Given the description of an element on the screen output the (x, y) to click on. 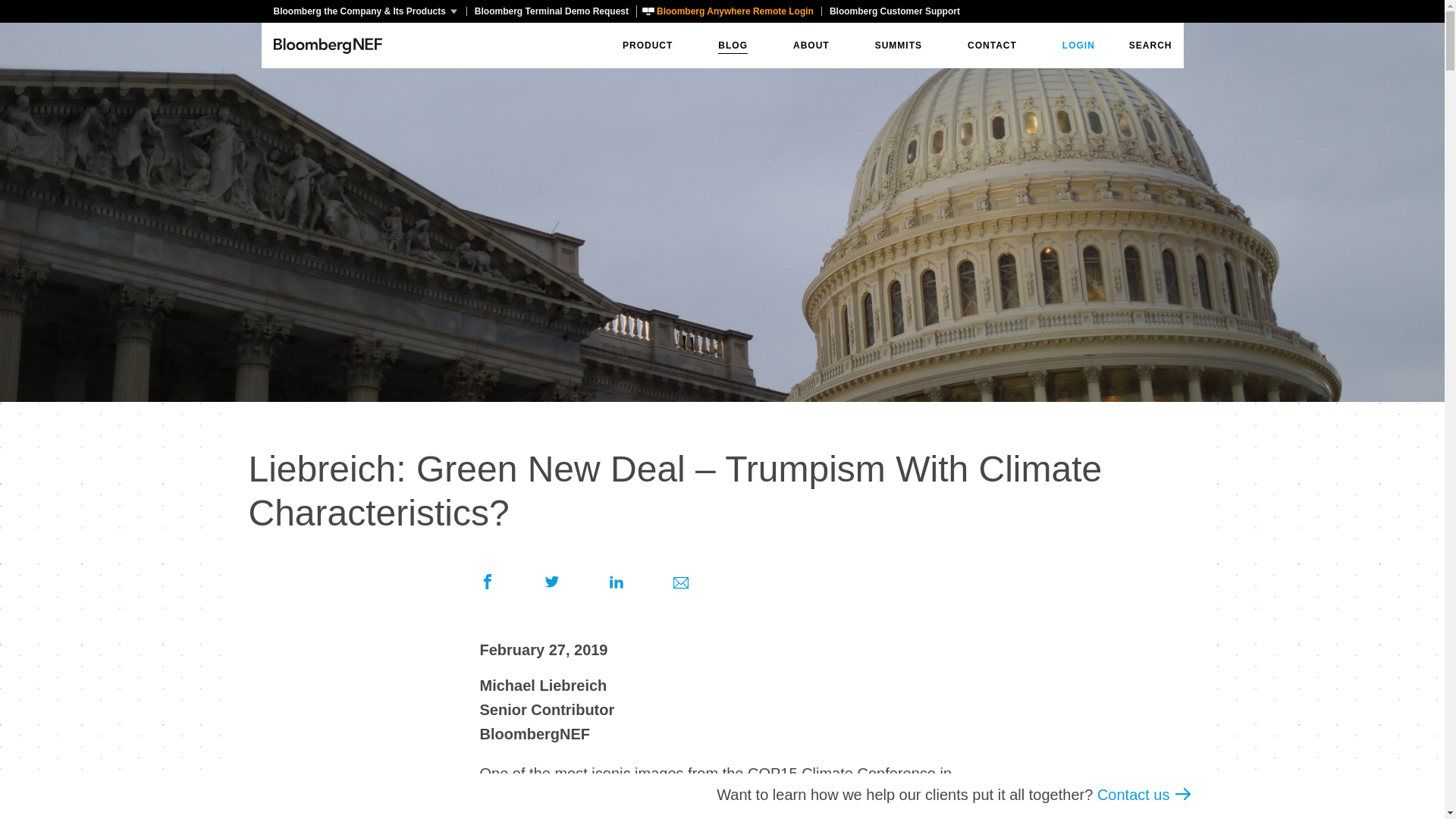
Bloomberg Terminal Demo Request (550, 10)
Bloomberg Customer Support (894, 10)
Bloomberg Anywhere Remote Login (728, 10)
